Given the description of an element on the screen output the (x, y) to click on. 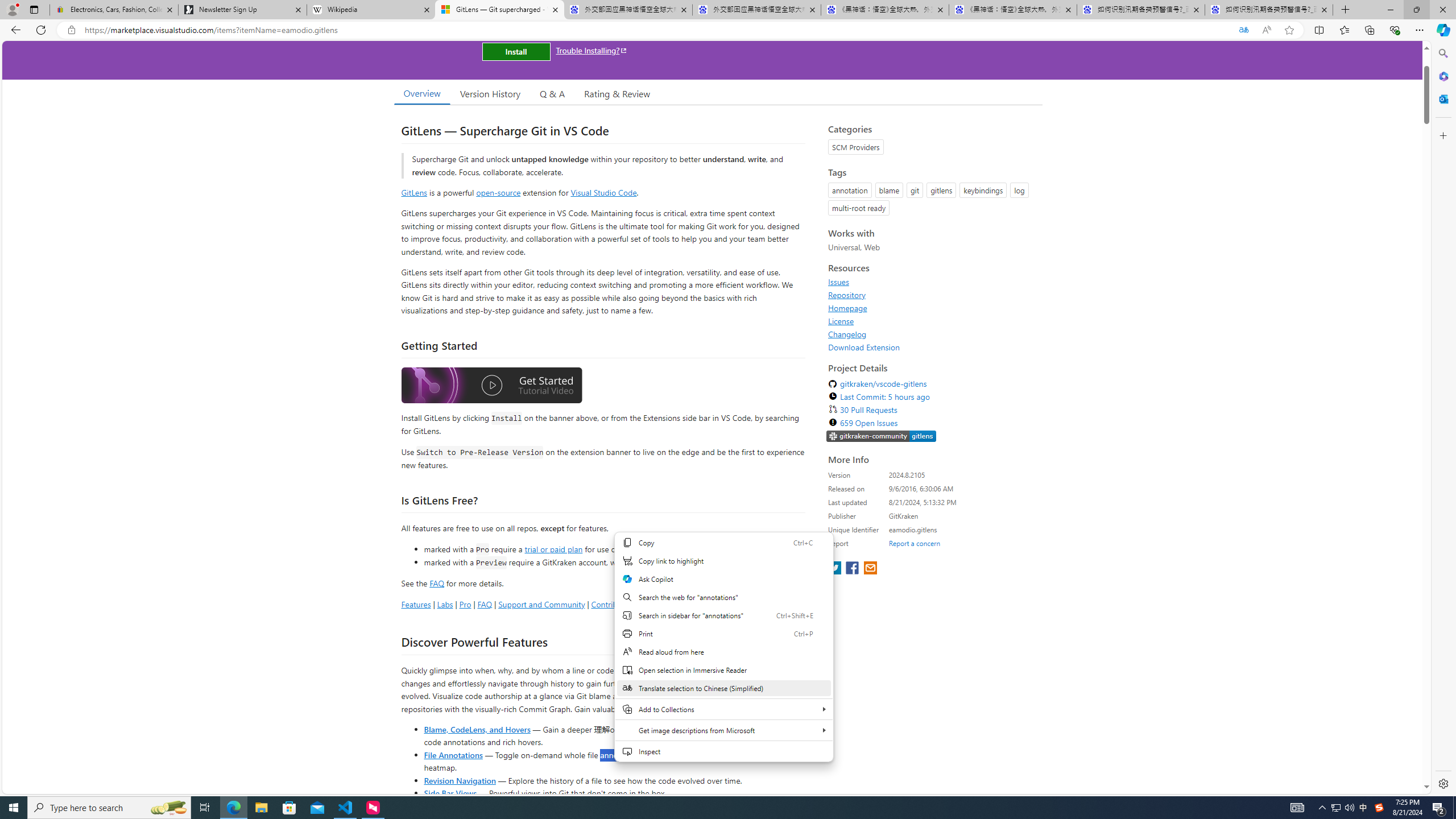
Watch the GitLens Getting Started video (491, 385)
Repository (847, 294)
share extension on facebook (853, 568)
Inspect (723, 751)
